Given the description of an element on the screen output the (x, y) to click on. 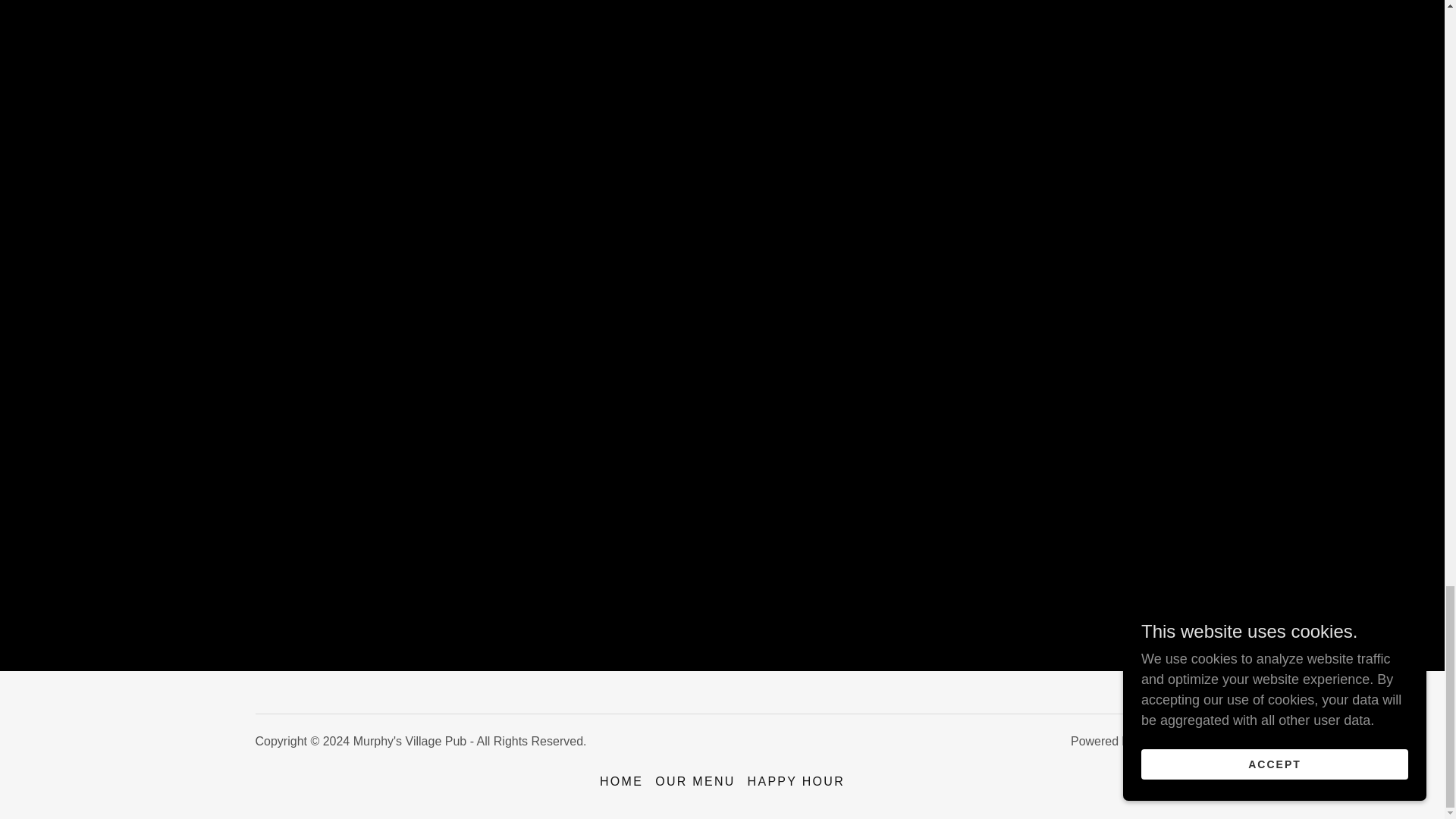
OUR MENU (695, 781)
HAPPY HOUR (795, 781)
HOME (621, 781)
GoDaddy (1163, 740)
